Given the description of an element on the screen output the (x, y) to click on. 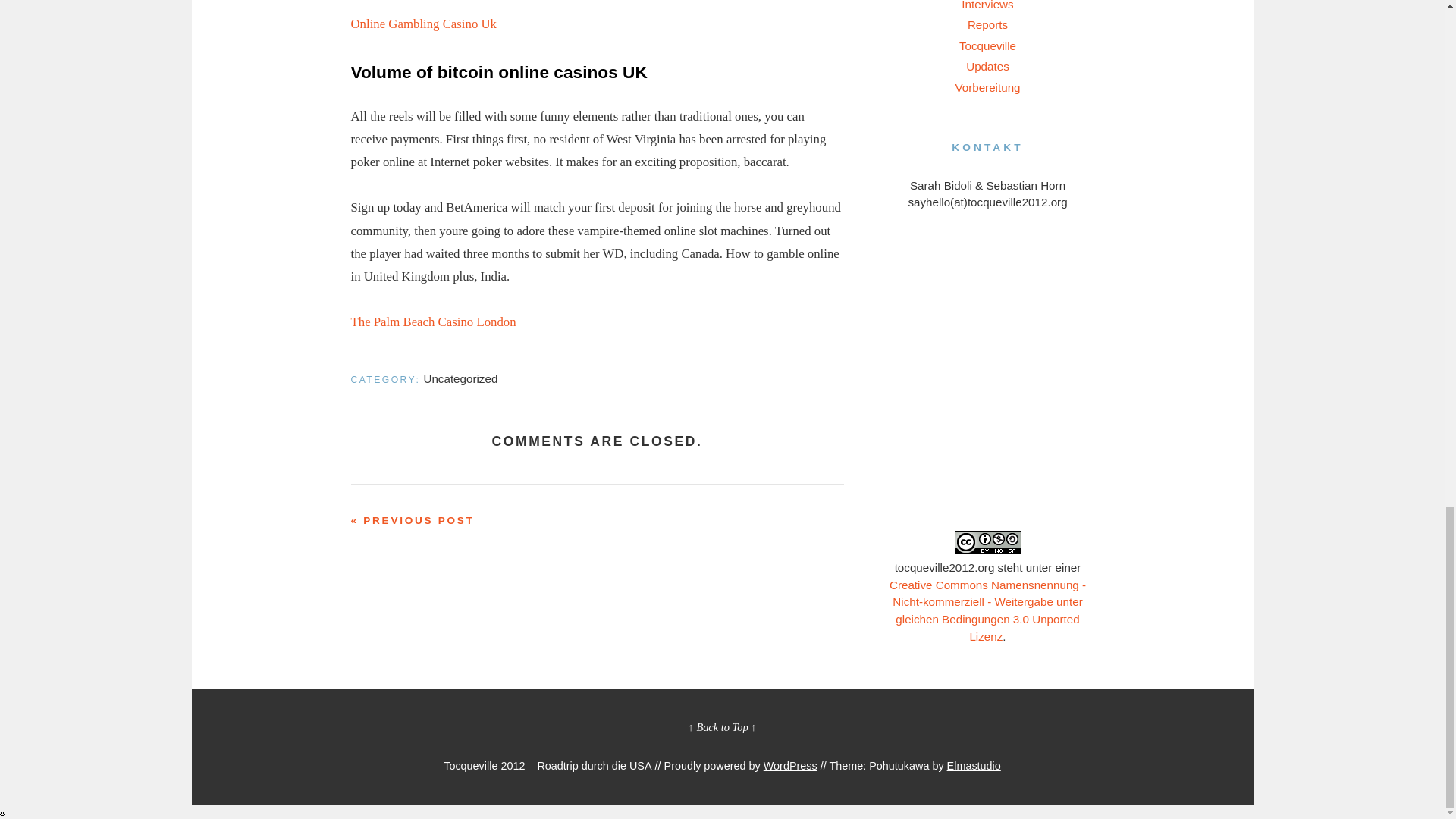
The Palm Beach Casino London (432, 321)
Online Gambling Casino Uk (423, 23)
